Given the description of an element on the screen output the (x, y) to click on. 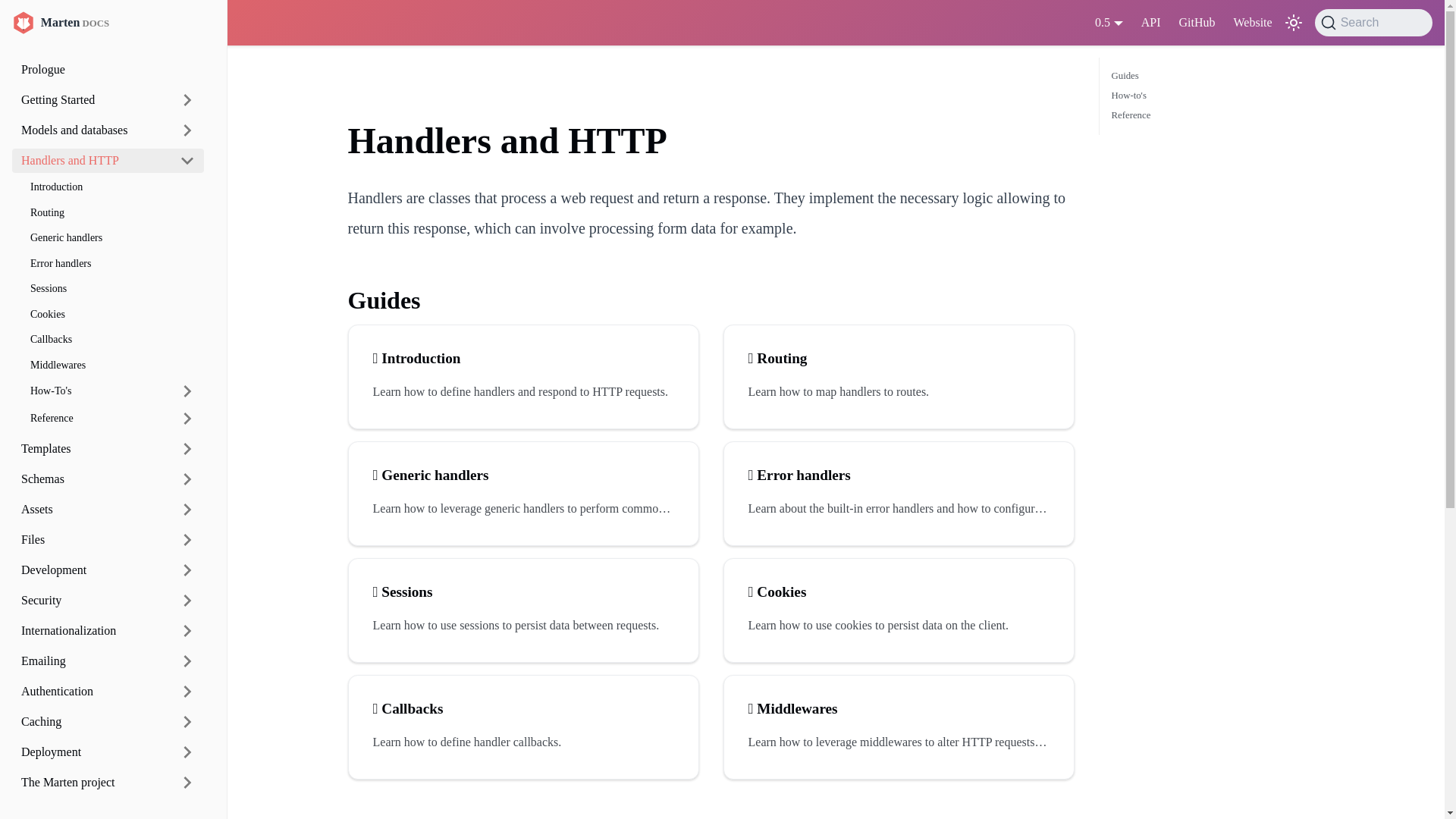
Cookies (112, 314)
Search (1373, 22)
Prologue (107, 69)
API (1151, 22)
Models and databases (90, 129)
Learn how to use sessions to persist data between requests. (523, 625)
Templates (90, 448)
GitHub (1196, 22)
Error handlers (112, 262)
